Given the description of an element on the screen output the (x, y) to click on. 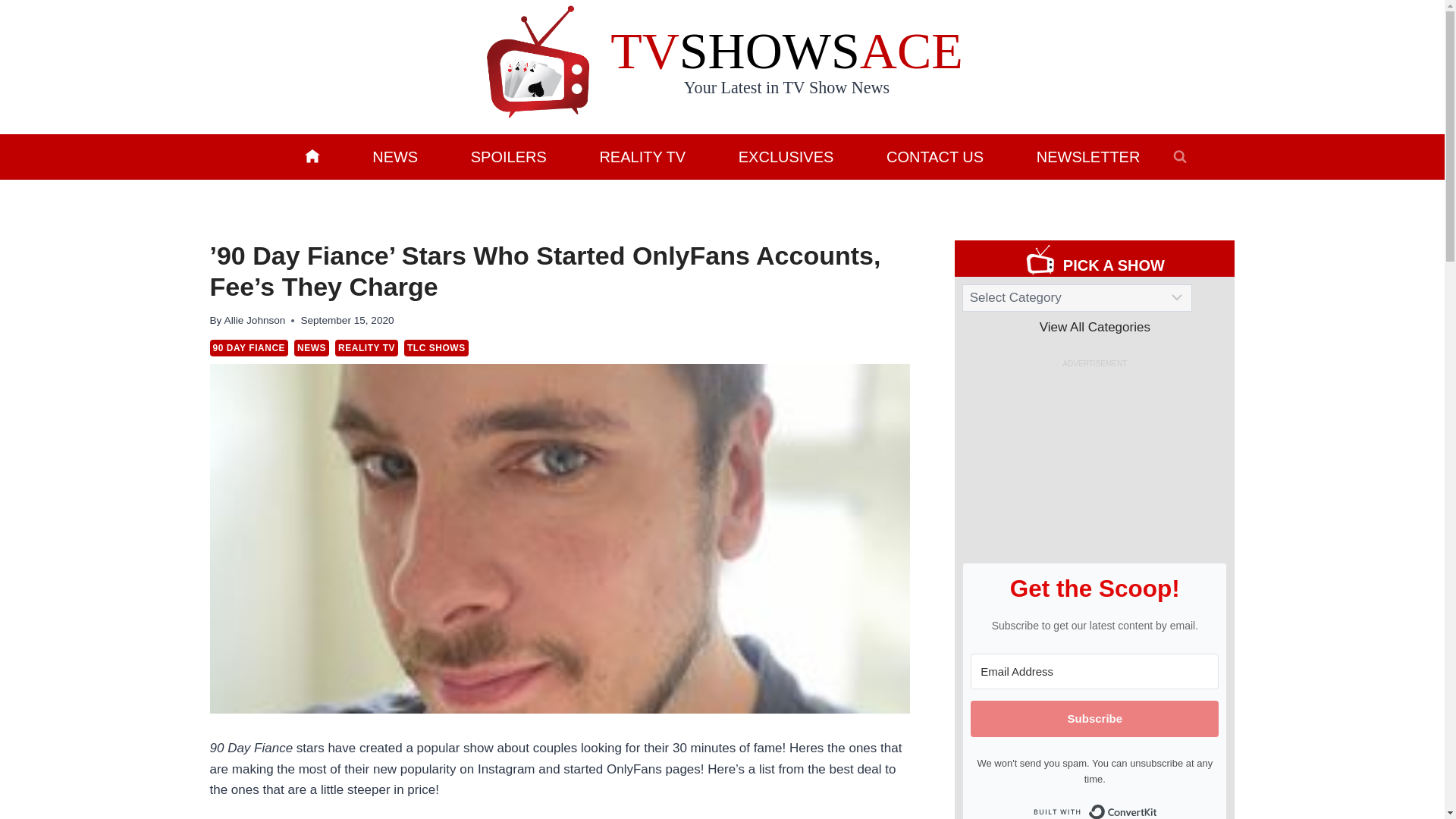
NEWS (311, 347)
90 DAY FIANCE (248, 347)
NEWSLETTER (1088, 156)
CONTACT US (935, 156)
View All Categories (1094, 327)
TLC SHOWS (436, 347)
Allie Johnson (254, 319)
EXCLUSIVES (785, 156)
REALITY TV (642, 156)
NEWS (395, 156)
